Given the description of an element on the screen output the (x, y) to click on. 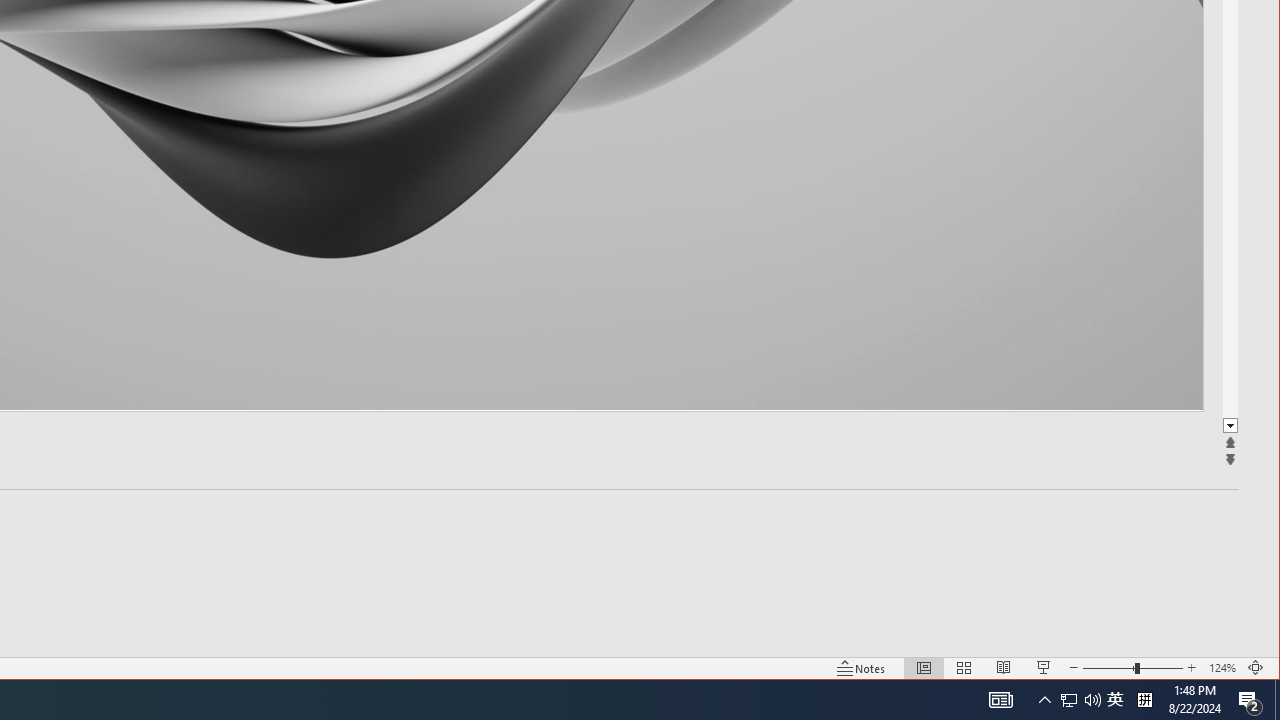
Action Center, 2 new notifications (1250, 699)
Zoom (1132, 668)
User Promoted Notification Area (1069, 699)
Line down (1080, 699)
AutomationID: 4105 (1230, 426)
